Given the description of an element on the screen output the (x, y) to click on. 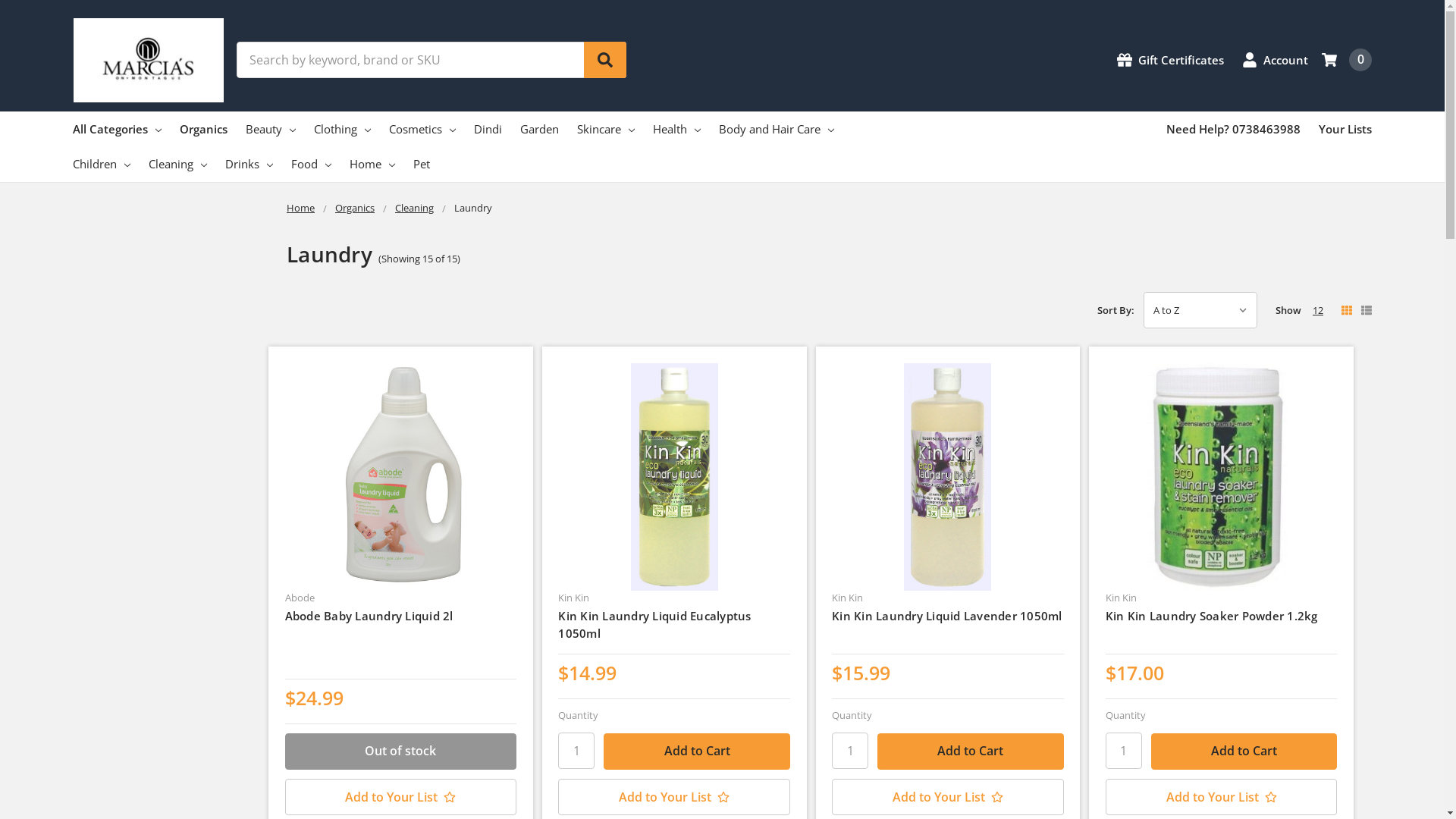
Food Element type: text (311, 164)
Beauty Element type: text (270, 129)
Cleaning Element type: text (414, 207)
Home Element type: text (372, 164)
Dindi Element type: text (487, 129)
0 Element type: text (1346, 59)
Out of stock Element type: text (401, 751)
Skincare Element type: text (605, 129)
Cosmetics Element type: text (421, 129)
Kin Kin Laundry Liquid Lavender 1050ml Element type: text (946, 615)
Need Help? 0738463988 Element type: text (1233, 129)
Add to Your List Element type: text (674, 796)
Kin Kin Laundry Soaker Powder 1.2kg Element type: text (1211, 615)
Abode Baby Laundry Liquid 2l Element type: hover (400, 476)
Kin Kin Laundry Liquid Lavender 1050ml Element type: hover (947, 476)
Gift Certificates Element type: text (1170, 60)
Health Element type: text (676, 129)
Kin Kin Laundry Liquid Eucalyptus 1050ml Element type: hover (674, 476)
Kin Kin Laundry Liquid Eucalyptus 1050ml Element type: text (654, 624)
Marcia's on Montague Element type: hover (148, 60)
Organics Element type: text (354, 207)
Children Element type: text (101, 164)
Body and Hair Care Element type: text (776, 129)
Kin Kin Laundry Soaker Powder 1.2kg Element type: hover (1221, 476)
Add to Cart Element type: text (970, 751)
Drinks Element type: text (249, 164)
All Categories Element type: text (116, 129)
Add to Your List Element type: text (1221, 796)
Account Element type: text (1275, 60)
Your Lists Element type: text (1344, 129)
Clothing Element type: text (341, 129)
Add to Your List Element type: text (947, 796)
Abode Baby Laundry Liquid 2l Element type: text (369, 615)
Pet Element type: text (421, 164)
Add to Cart Element type: text (1244, 751)
Add to Cart Element type: text (696, 751)
Add to Your List Element type: text (401, 796)
Cleaning Element type: text (177, 164)
Home Element type: text (300, 207)
12 Element type: text (1317, 309)
Garden Element type: text (539, 129)
Organics Element type: text (203, 129)
